Given the description of an element on the screen output the (x, y) to click on. 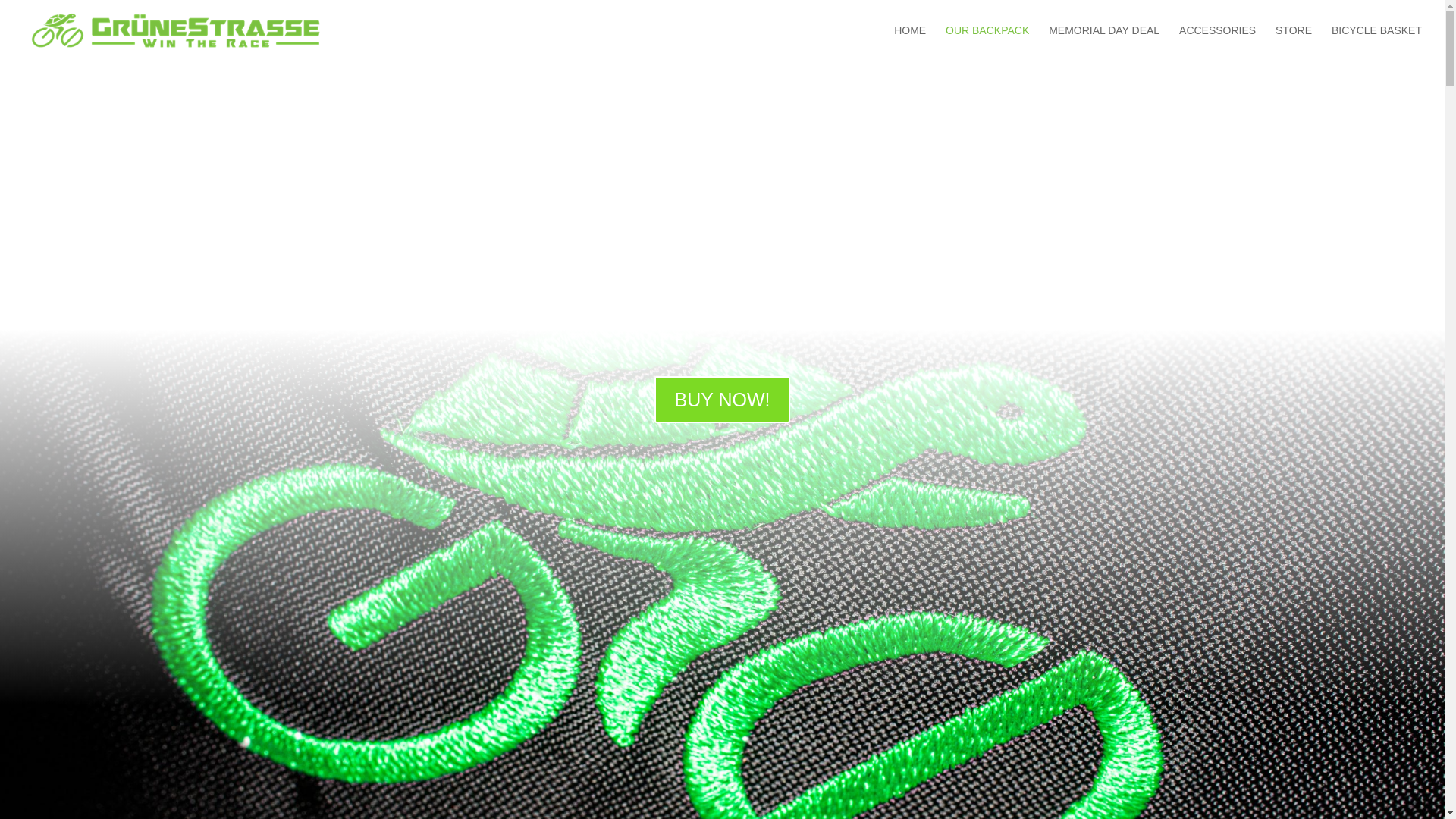
HOME (909, 42)
OUR BACKPACK (986, 42)
BUY NOW! (721, 399)
MEMORIAL DAY DEAL (1103, 42)
BICYCLE BASKET (1377, 42)
ACCESSORIES (1217, 42)
STORE (1293, 42)
